Given the description of an element on the screen output the (x, y) to click on. 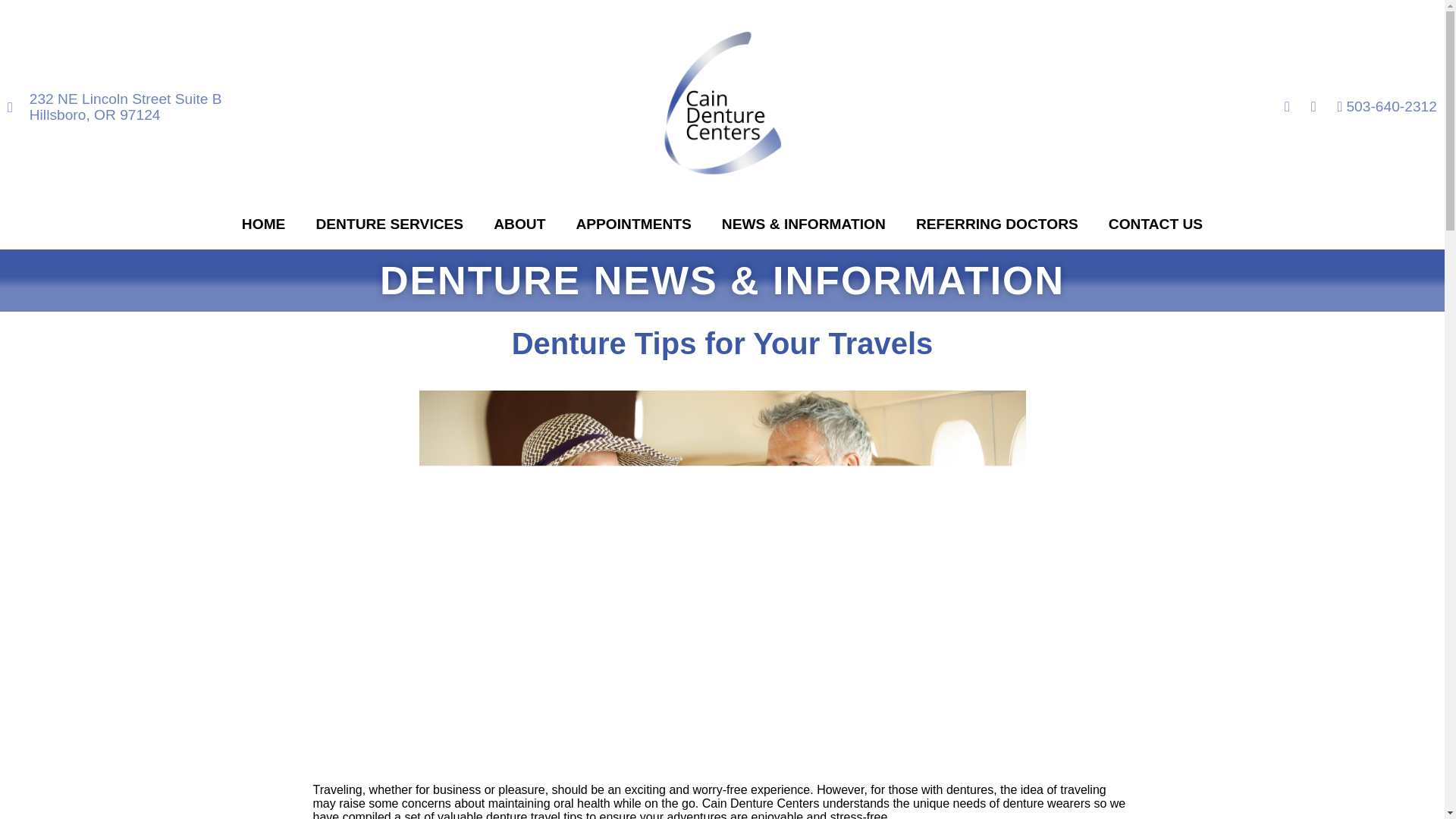
APPOINTMENTS (633, 223)
CONTACT US (1155, 223)
503-640-2312 (1380, 106)
REFERRING DOCTORS (997, 223)
ABOUT (519, 223)
HOME (264, 223)
DENTURE SERVICES (389, 223)
